Given the description of an element on the screen output the (x, y) to click on. 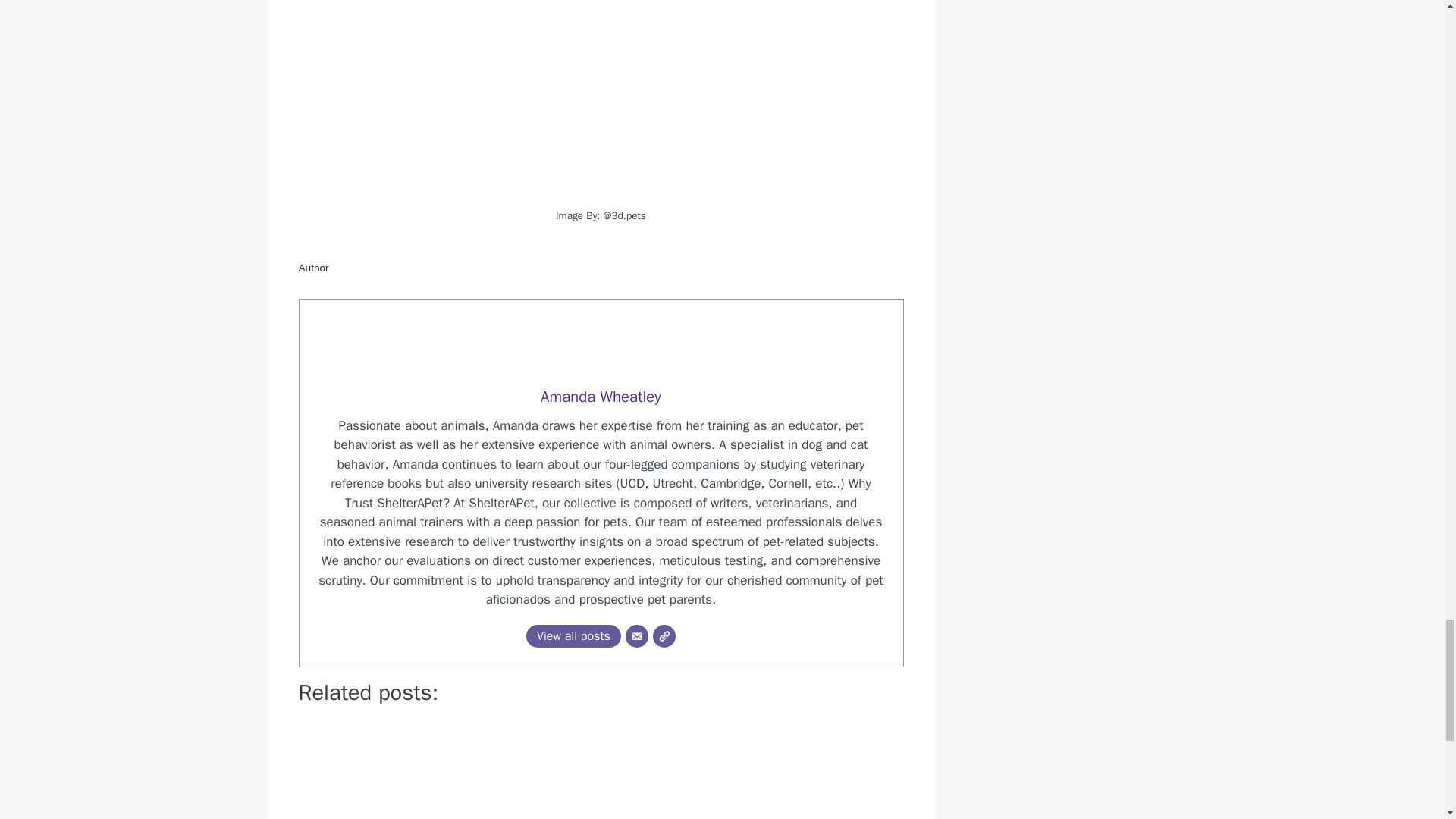
Amanda Wheatley (600, 396)
View all posts (573, 635)
Amanda Wheatley (600, 396)
View all posts (573, 635)
Pregnant Cat's Struggle to Complete Simple Task (481, 770)
